Given the description of an element on the screen output the (x, y) to click on. 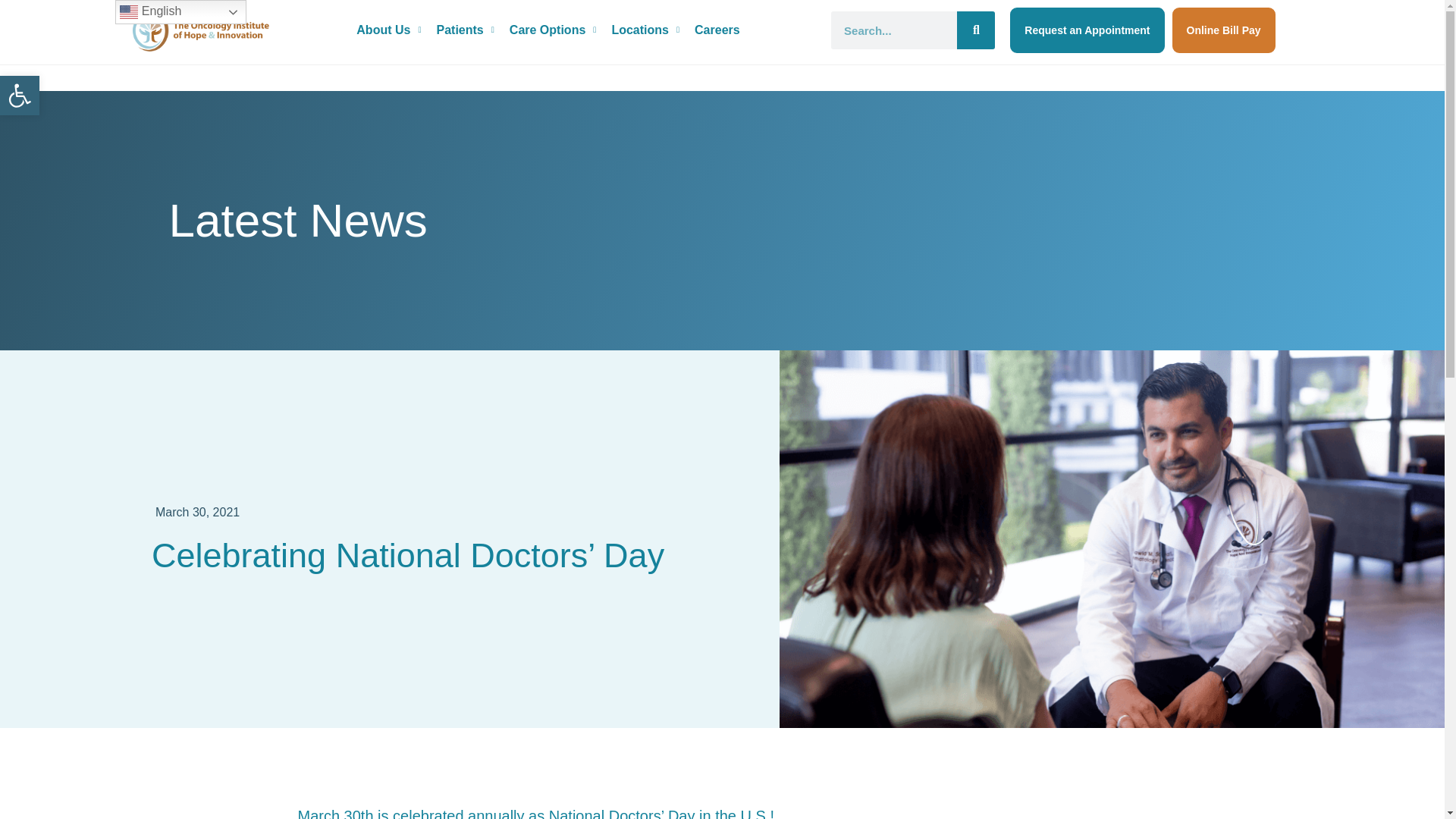
Accessibility Tools (19, 95)
Accessibility Tools (19, 95)
